Given the description of an element on the screen output the (x, y) to click on. 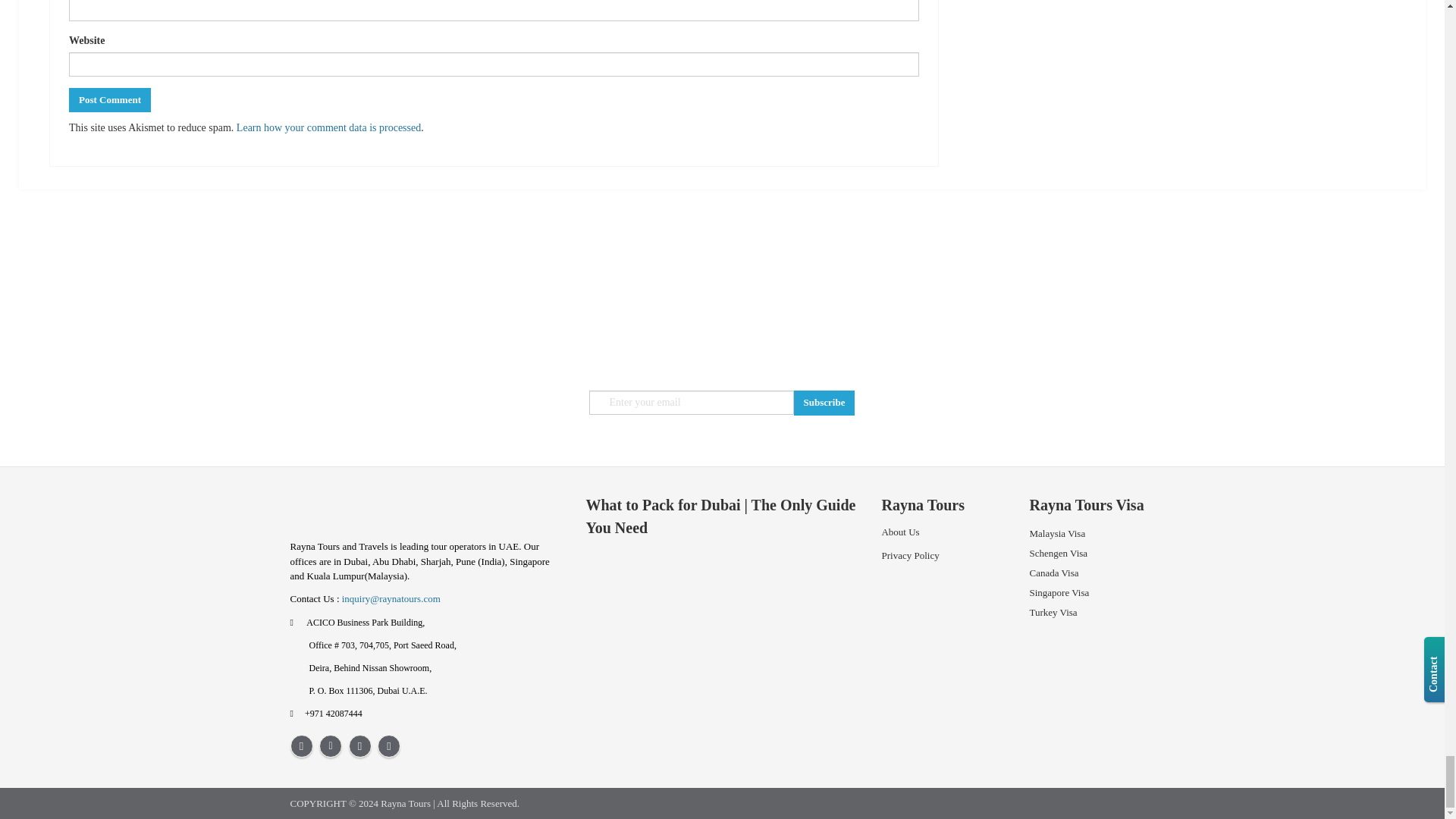
Post Comment (109, 100)
